Given the description of an element on the screen output the (x, y) to click on. 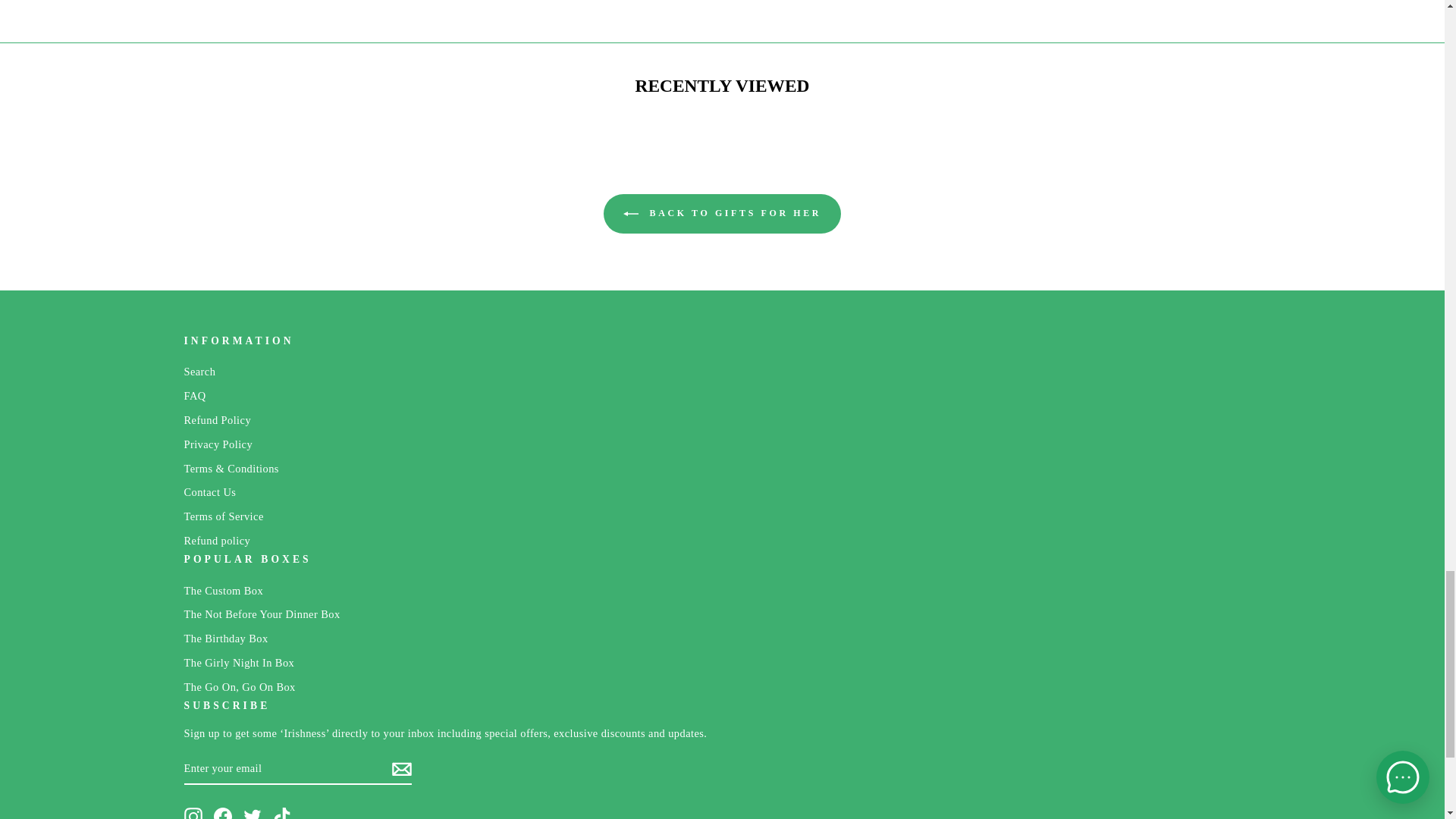
instagram (192, 813)
icon-email (400, 769)
twitter (251, 813)
ICON-LEFT-ARROW (631, 213)
The Paddy Box on Twitter (251, 813)
The Paddy Box on Instagram (192, 813)
The Paddy Box on TikTok (282, 813)
The Paddy Box on Facebook (222, 813)
